Given the description of an element on the screen output the (x, y) to click on. 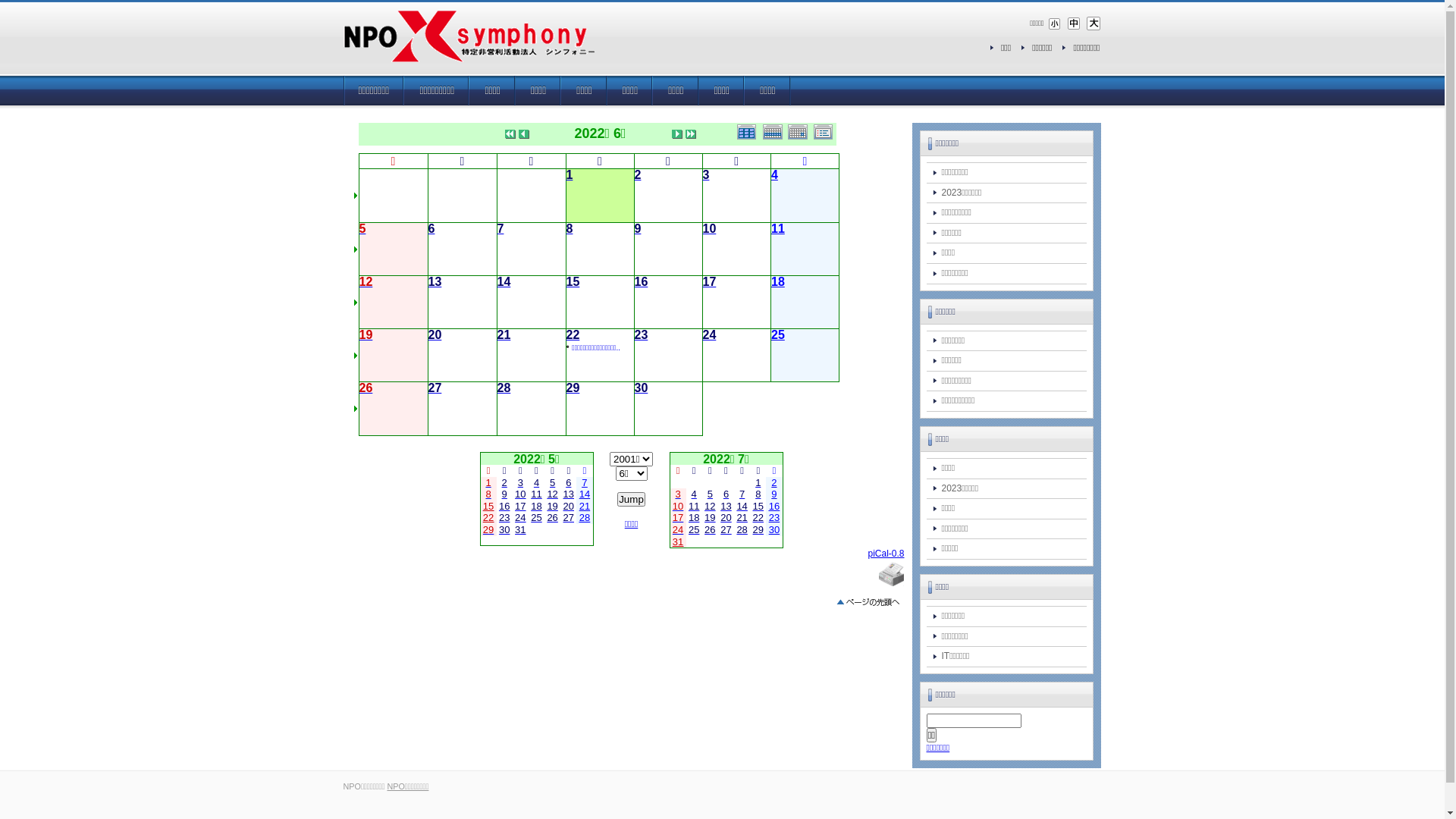
27 Element type: text (725, 529)
30 Element type: text (773, 529)
2 Element type: text (636, 175)
big Element type: hover (1092, 22)
30 Element type: text (503, 529)
21 Element type: text (741, 517)
1 Element type: text (568, 175)
30 Element type: text (640, 388)
20 Element type: text (568, 506)
8 Element type: text (757, 494)
4 Element type: text (693, 494)
19 Element type: text (551, 506)
piCal-0.8 Element type: text (885, 553)
26 Element type: text (366, 388)
4 Element type: text (774, 175)
14 Element type: text (504, 282)
28 Element type: text (504, 388)
5 Element type: text (552, 482)
15 Element type: text (488, 506)
5 Element type: text (362, 229)
22 Element type: text (758, 517)
17 Element type: text (677, 517)
28 Element type: text (741, 529)
1 Element type: text (757, 482)
19 Element type: text (709, 517)
16 Element type: text (640, 282)
21 Element type: text (584, 506)
18 Element type: text (777, 282)
default Element type: hover (1073, 22)
10 Element type: text (519, 494)
9 Element type: text (636, 229)
6 Element type: text (430, 229)
23 Element type: text (503, 517)
8 Element type: text (487, 494)
10 Element type: text (677, 506)
9 Element type: text (504, 494)
24 Element type: text (519, 517)
3 Element type: text (520, 482)
17 Element type: text (708, 282)
14 Element type: text (584, 494)
26 Element type: text (551, 517)
31 Element type: text (677, 541)
22 Element type: text (488, 517)
1 Element type: text (487, 482)
24 Element type: text (708, 335)
21 Element type: text (504, 335)
3 Element type: text (705, 175)
7 Element type: text (583, 482)
Jump Element type: text (631, 499)
23 Element type: text (640, 335)
8 Element type: text (568, 229)
small Element type: hover (1054, 22)
10 Element type: text (708, 229)
29 Element type: text (572, 388)
23 Element type: text (773, 517)
13 Element type: text (725, 506)
12 Element type: text (709, 506)
17 Element type: text (519, 506)
12 Element type: text (366, 282)
16 Element type: text (503, 506)
31 Element type: text (519, 529)
22 Element type: text (572, 335)
25 Element type: text (693, 529)
20 Element type: text (434, 335)
9 Element type: text (773, 494)
11 Element type: text (693, 506)
25 Element type: text (535, 517)
24 Element type: text (677, 529)
4 Element type: text (536, 482)
18 Element type: text (535, 506)
7 Element type: text (500, 229)
28 Element type: text (584, 517)
13 Element type: text (568, 494)
19 Element type: text (366, 335)
14 Element type: text (741, 506)
27 Element type: text (568, 517)
20 Element type: text (725, 517)
2 Element type: text (773, 482)
18 Element type: text (693, 517)
6 Element type: text (568, 482)
12 Element type: text (551, 494)
7 Element type: text (741, 494)
27 Element type: text (434, 388)
6 Element type: text (725, 494)
29 Element type: text (488, 529)
29 Element type: text (758, 529)
11 Element type: text (535, 494)
2 Element type: text (504, 482)
15 Element type: text (572, 282)
3 Element type: text (677, 494)
16 Element type: text (773, 506)
13 Element type: text (434, 282)
25 Element type: text (777, 335)
11 Element type: text (777, 229)
15 Element type: text (758, 506)
26 Element type: text (709, 529)
5 Element type: text (709, 494)
